Given the description of an element on the screen output the (x, y) to click on. 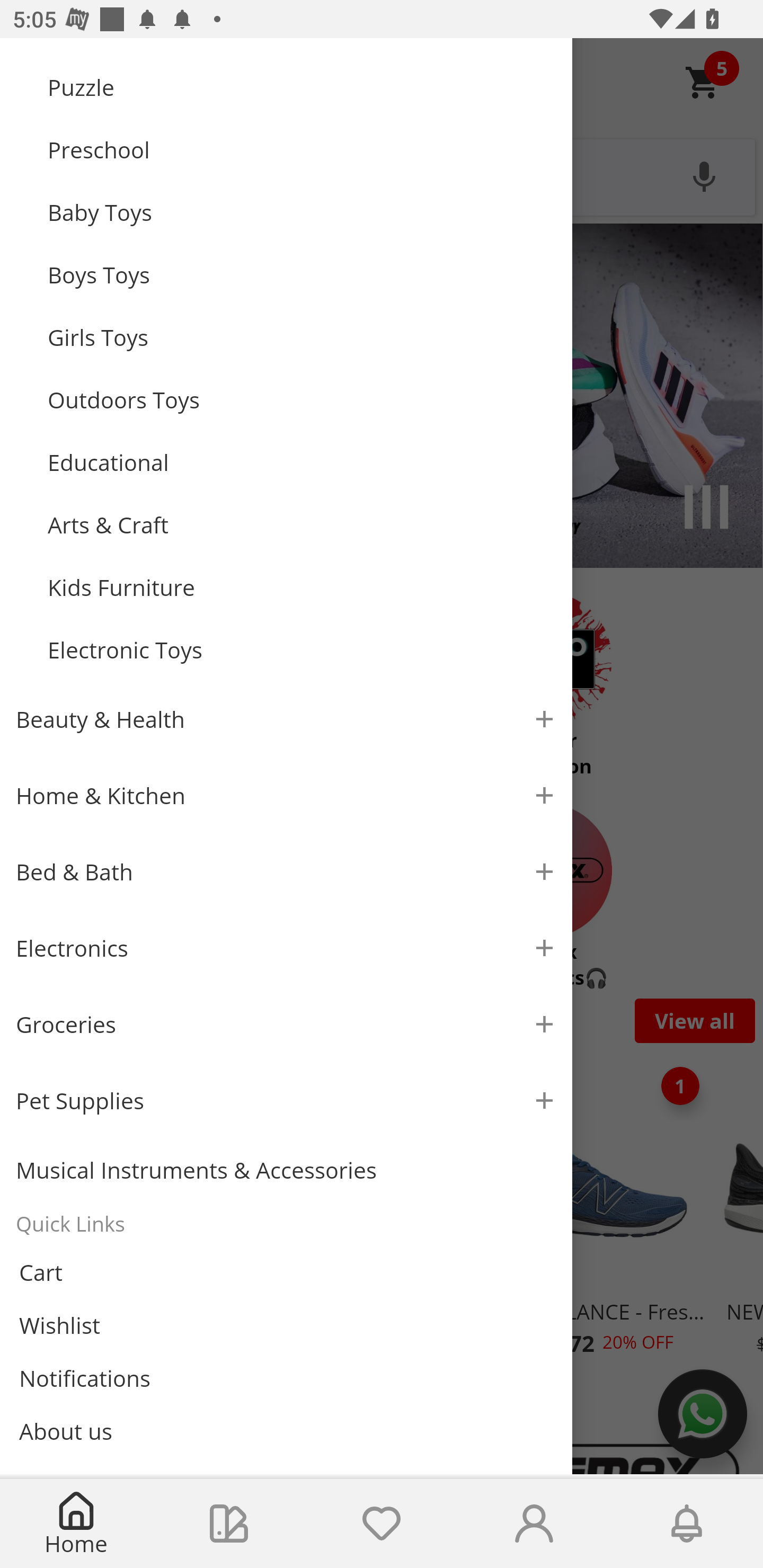
Puzzle (302, 87)
Preschool (302, 150)
Baby Toys (302, 212)
Boys Toys (302, 274)
Girls Toys (302, 336)
Outdoors Toys (302, 399)
Educational (302, 462)
Arts & Craft (302, 524)
Kids Furniture (302, 587)
Electronic Toys (302, 649)
Beauty & Health (286, 718)
Home & Kitchen (286, 795)
Bed & Bath (286, 871)
Electronics (286, 947)
Groceries (286, 1024)
Pet Supplies (286, 1100)
Musical Instruments & Accessories (286, 1169)
Cart (286, 1272)
Wishlist (286, 1324)
Notifications (286, 1377)
About us (286, 1431)
Collections (228, 1523)
Wishlist (381, 1523)
Account (533, 1523)
Notifications (686, 1523)
